Given the description of an element on the screen output the (x, y) to click on. 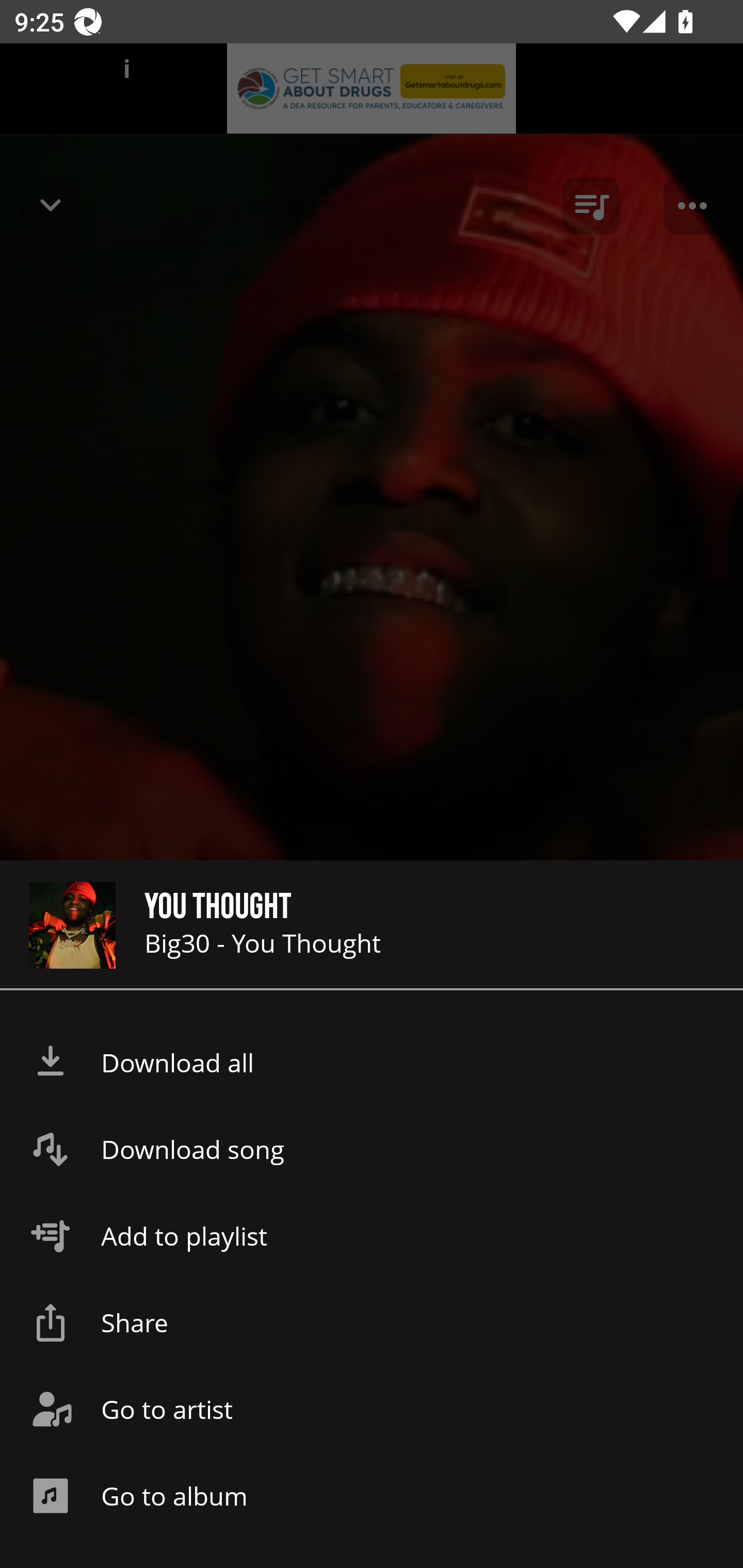
Download all (371, 1062)
Download song (371, 1149)
Add to playlist (371, 1236)
Share (371, 1322)
Go to artist (371, 1408)
Go to album (371, 1495)
